Given the description of an element on the screen output the (x, y) to click on. 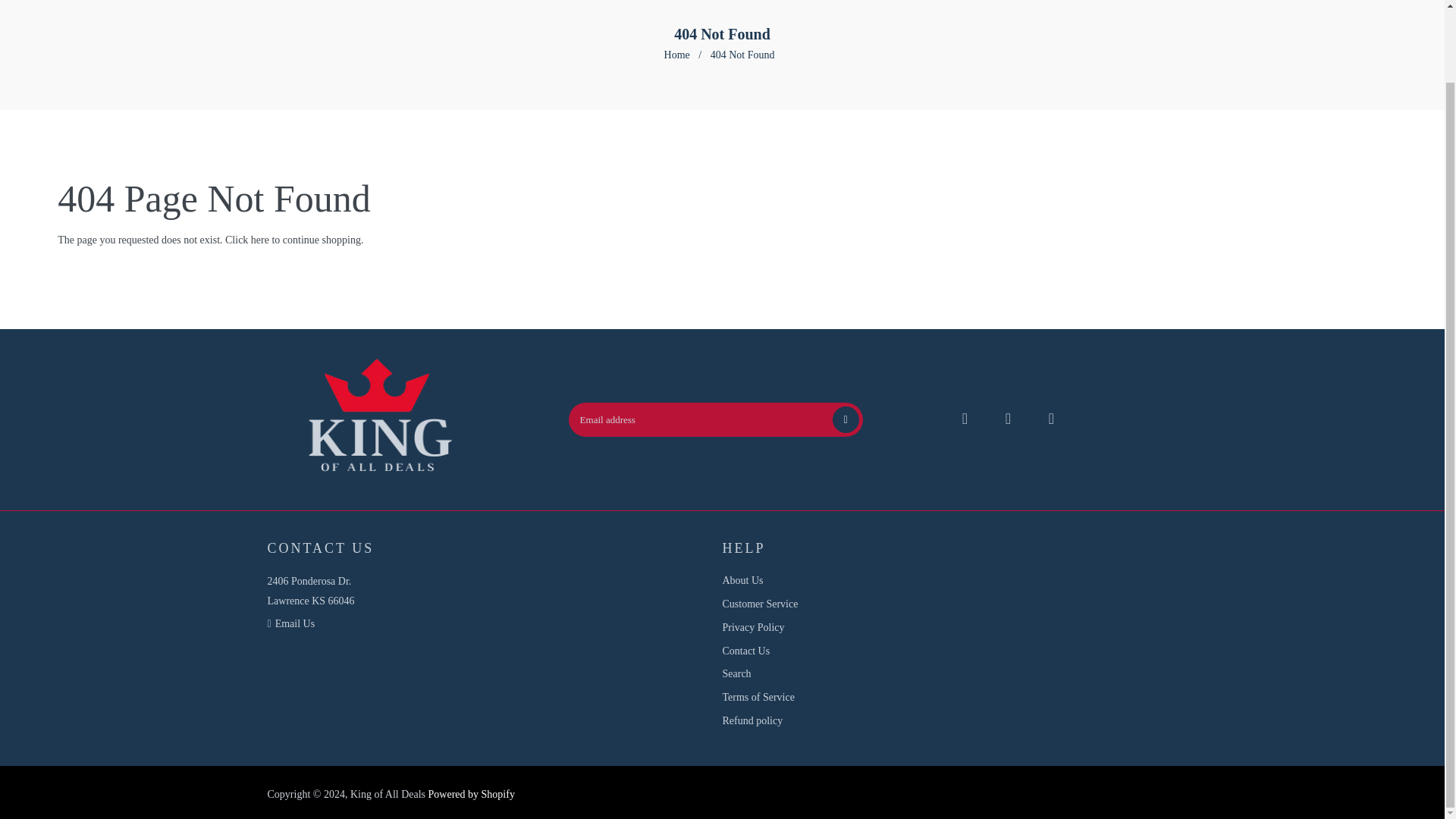
Back to the frontpage (678, 54)
